Given the description of an element on the screen output the (x, y) to click on. 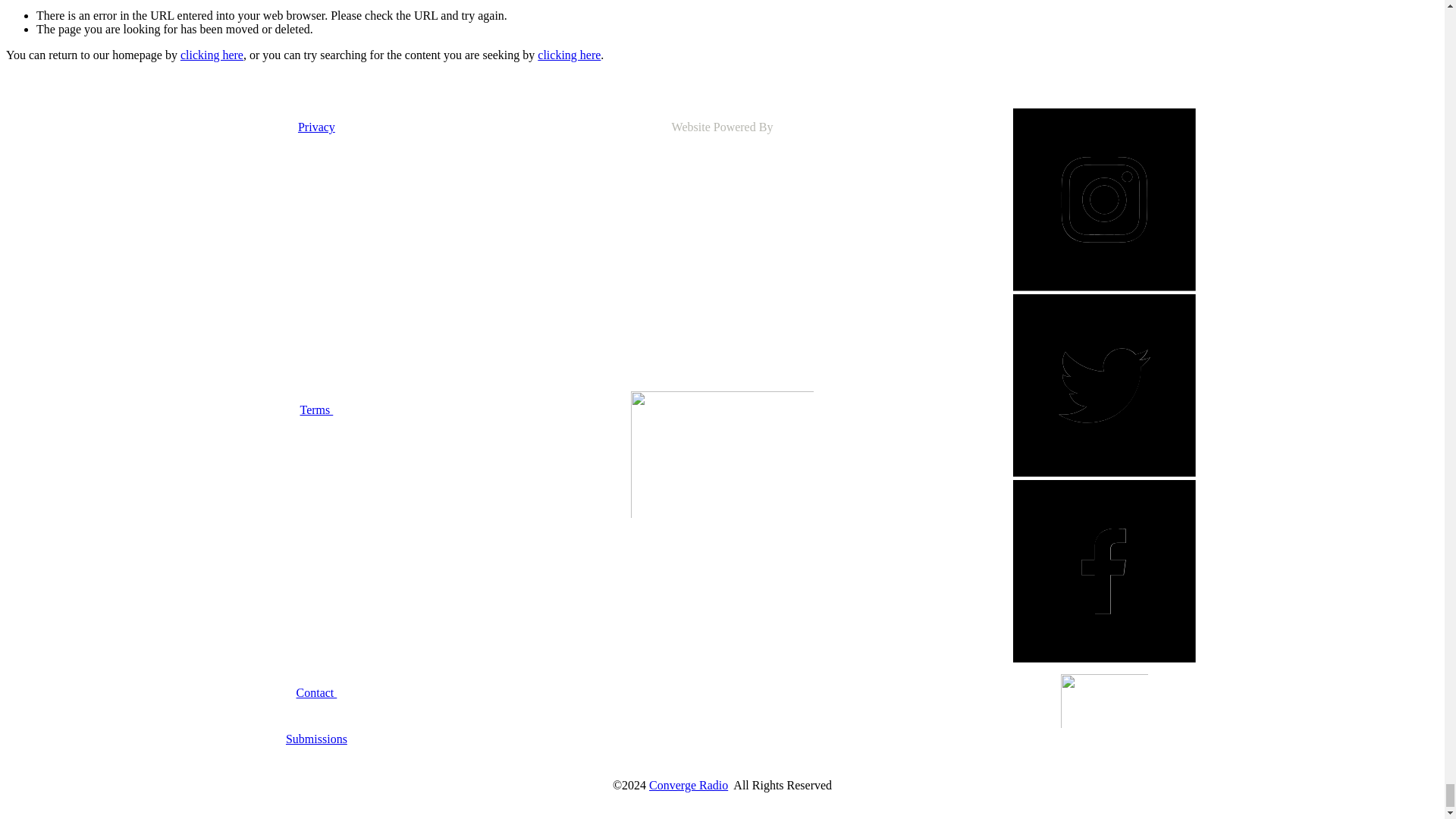
clicking here (211, 54)
Privacy (316, 126)
clicking here (568, 54)
Converge Radio (688, 784)
